Given the description of an element on the screen output the (x, y) to click on. 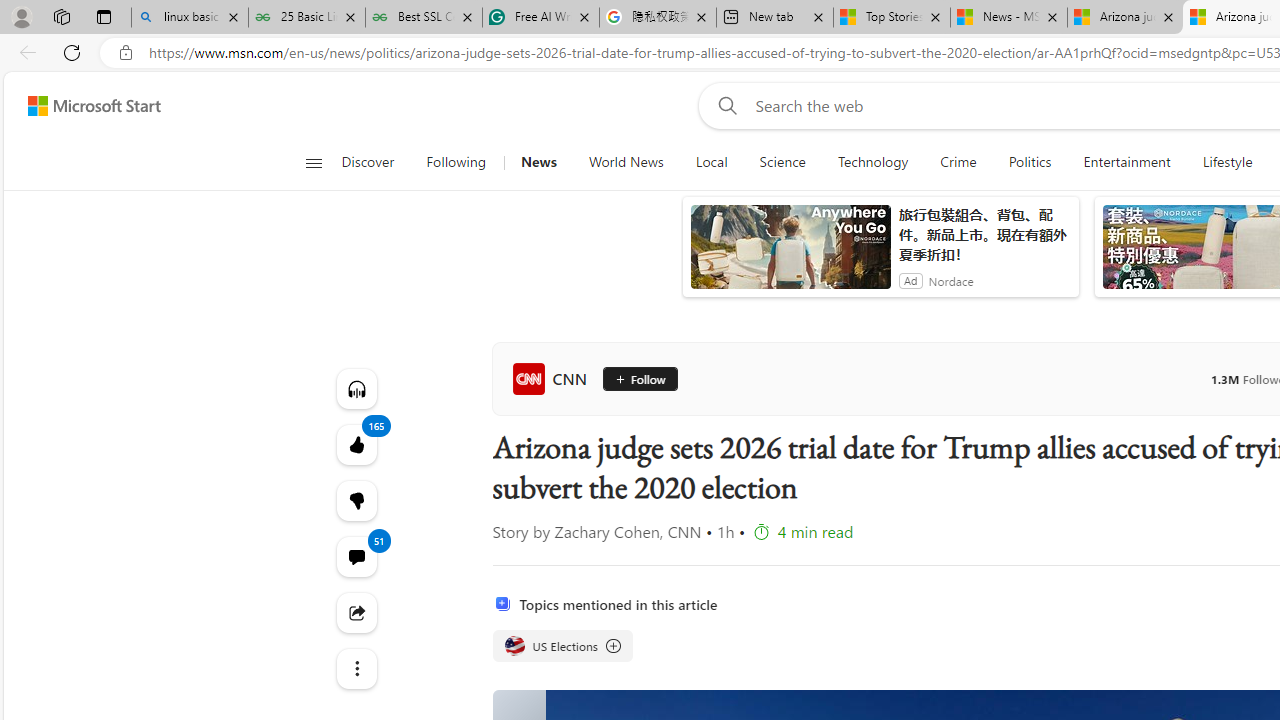
Dislike (356, 500)
Nordace (951, 280)
Share this story (356, 612)
Free AI Writing Assistance for Students | Grammarly (540, 17)
Listen to this article (356, 388)
Local (711, 162)
CNN (553, 378)
Crime (957, 162)
Lifestyle (1227, 162)
Science (781, 162)
